Given the description of an element on the screen output the (x, y) to click on. 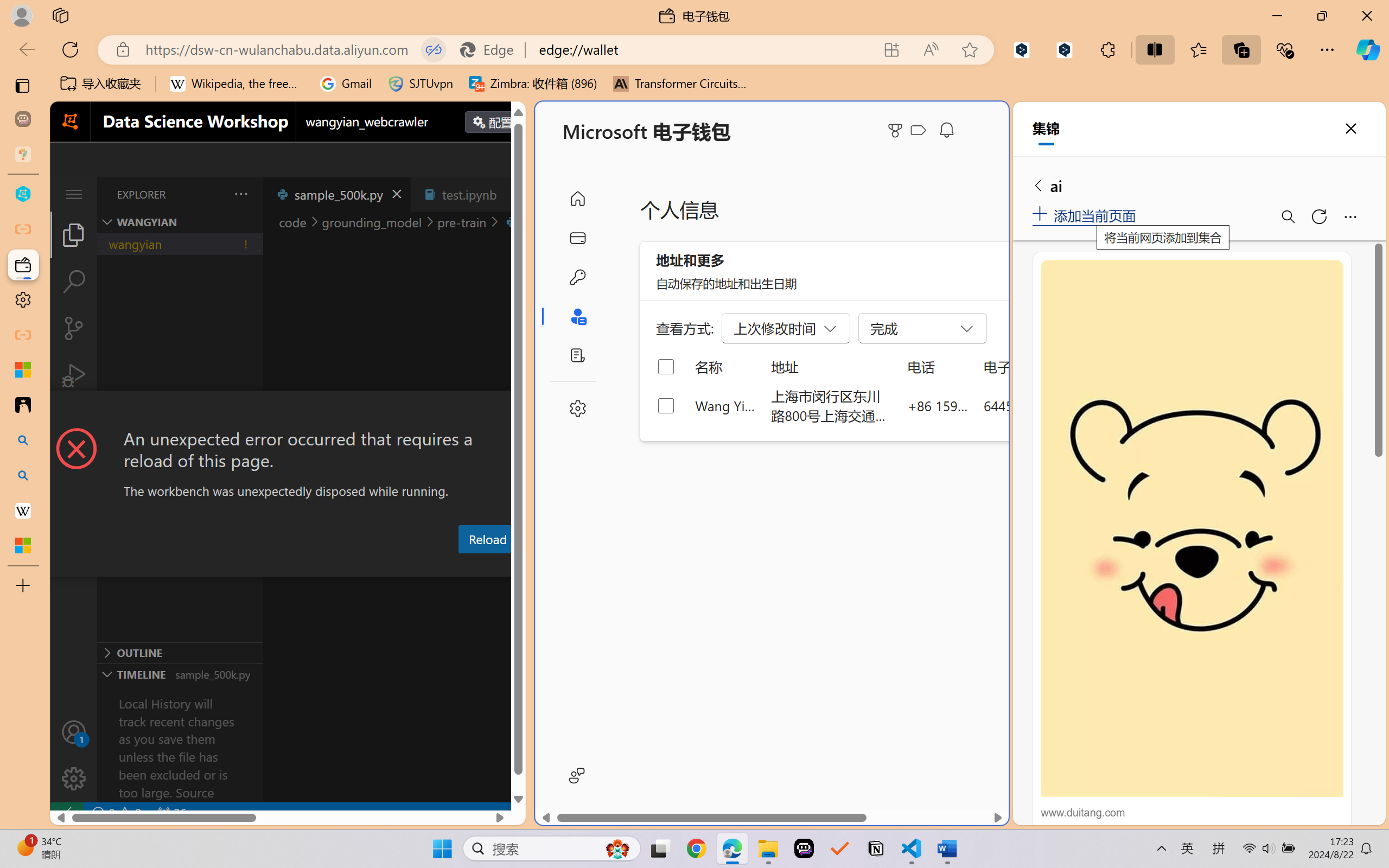
test.ipynb (468, 194)
Output (Ctrl+Shift+U) (377, 565)
Reload (486, 538)
Explorer Section: wangyian (179, 221)
